Given the description of an element on the screen output the (x, y) to click on. 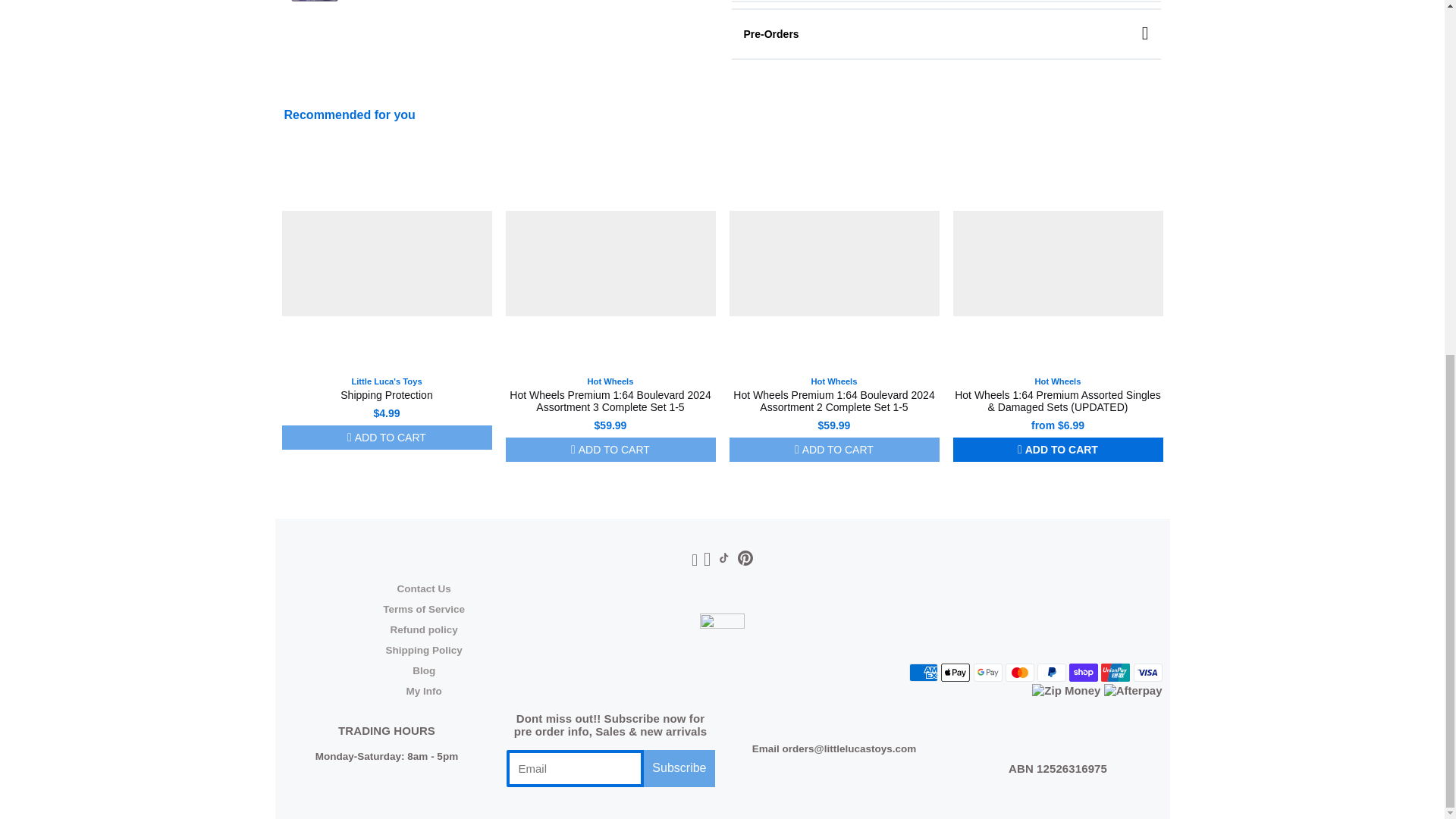
Visa (1146, 672)
American Express (922, 672)
Union Pay (1114, 672)
Google Pay (988, 672)
Mastercard (1019, 672)
PayPal (1050, 672)
Shop Pay (1082, 672)
Apple Pay (954, 672)
